Given the description of an element on the screen output the (x, y) to click on. 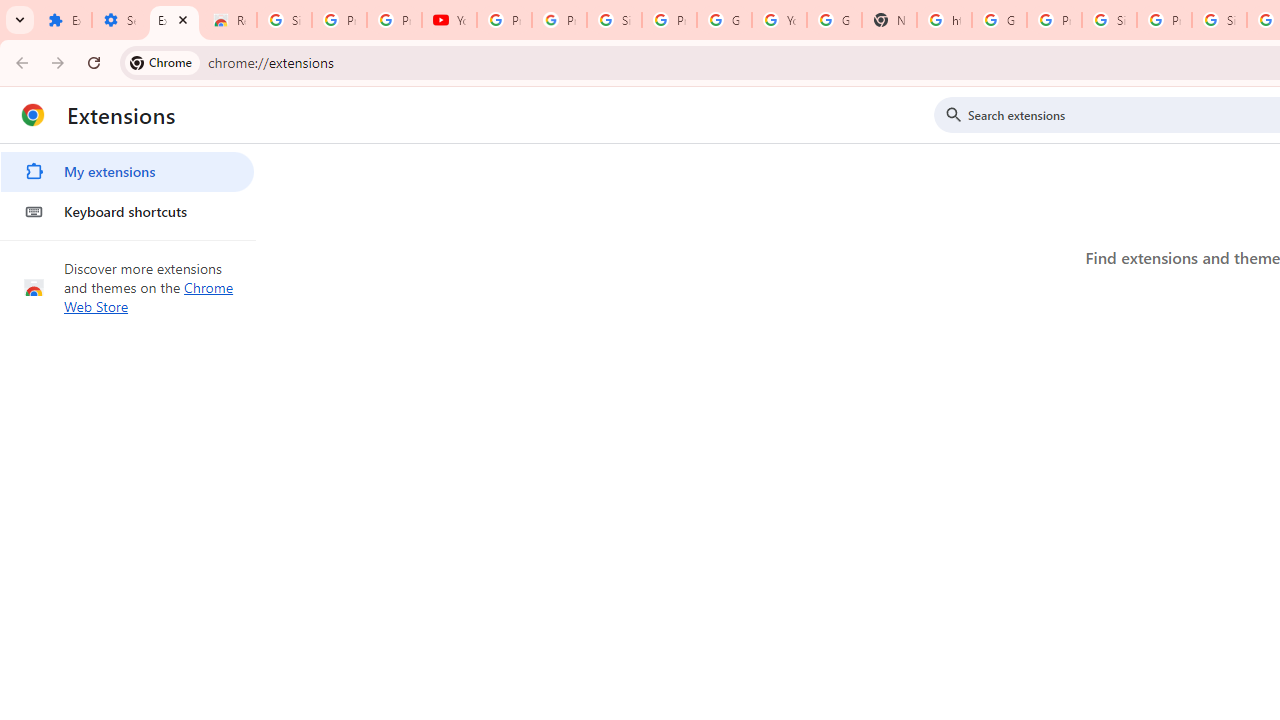
Google Account (724, 20)
Keyboard shortcuts (127, 211)
